Given the description of an element on the screen output the (x, y) to click on. 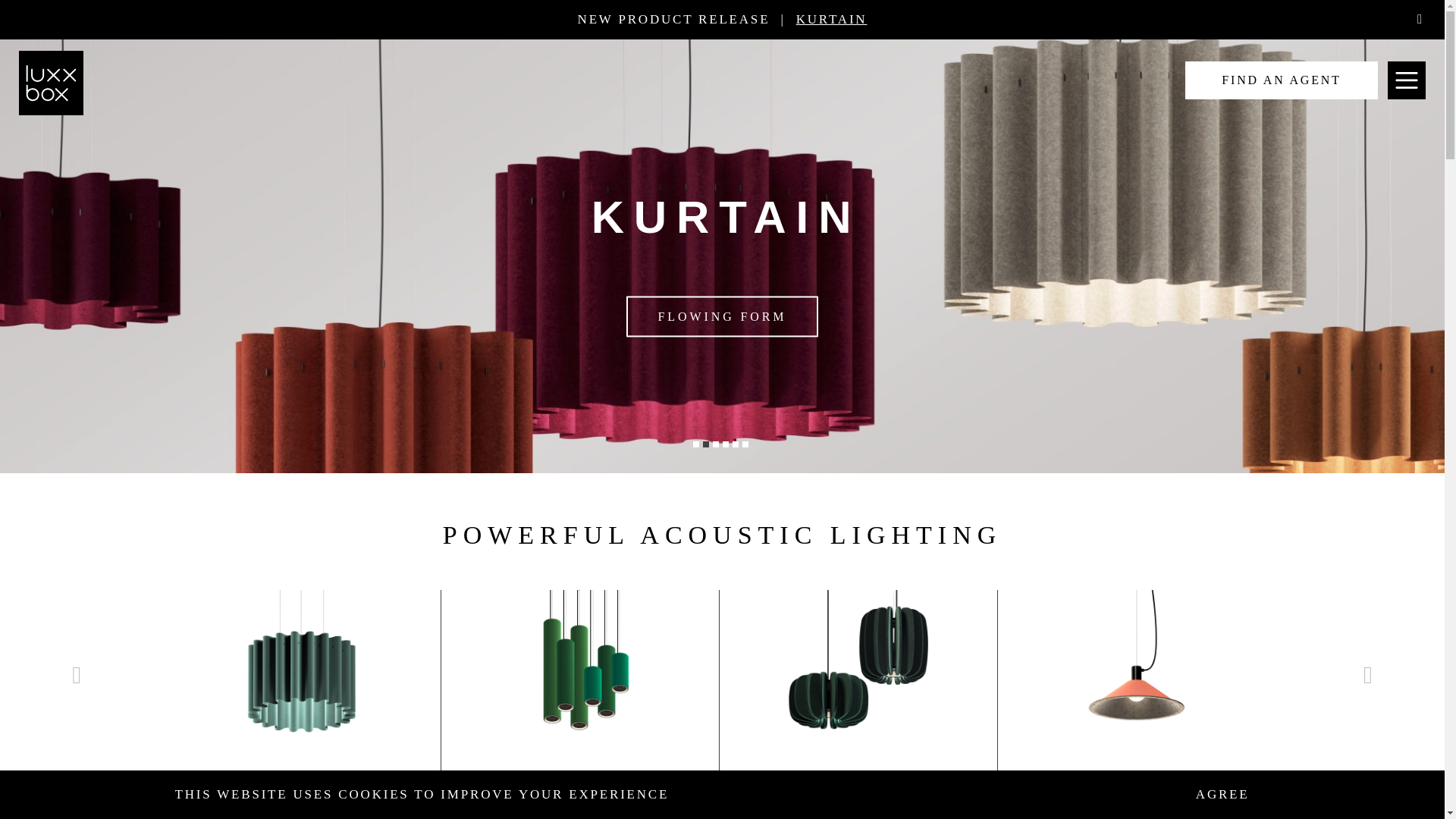
FIND AN AGENT (1281, 80)
FLOWING FORM (722, 315)
KURTAIN (831, 19)
